Given the description of an element on the screen output the (x, y) to click on. 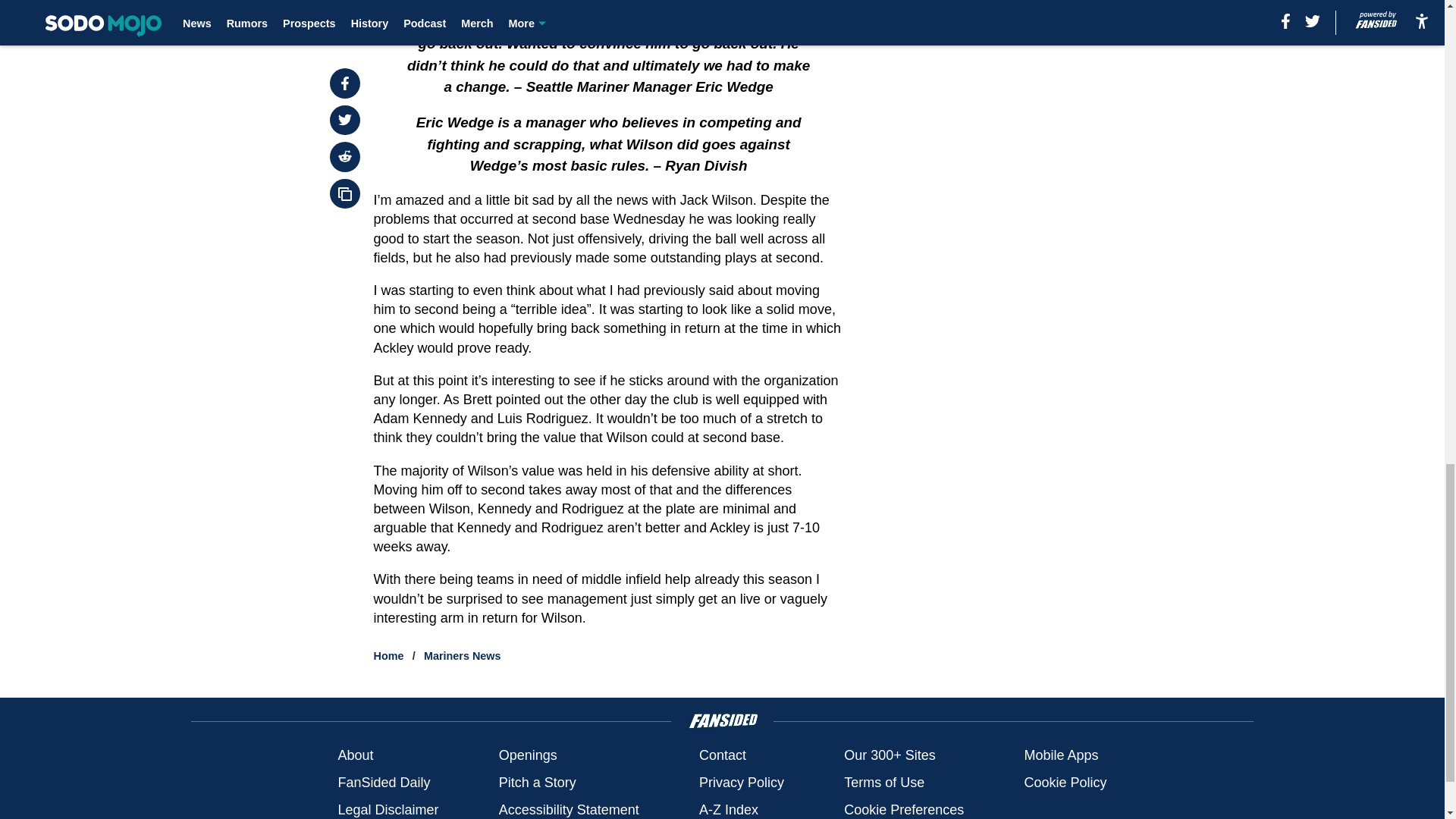
Mobile Apps (1060, 754)
Home (389, 655)
FanSided Daily (383, 782)
About (354, 754)
Contact (721, 754)
Openings (528, 754)
Mariners News (461, 655)
